Given the description of an element on the screen output the (x, y) to click on. 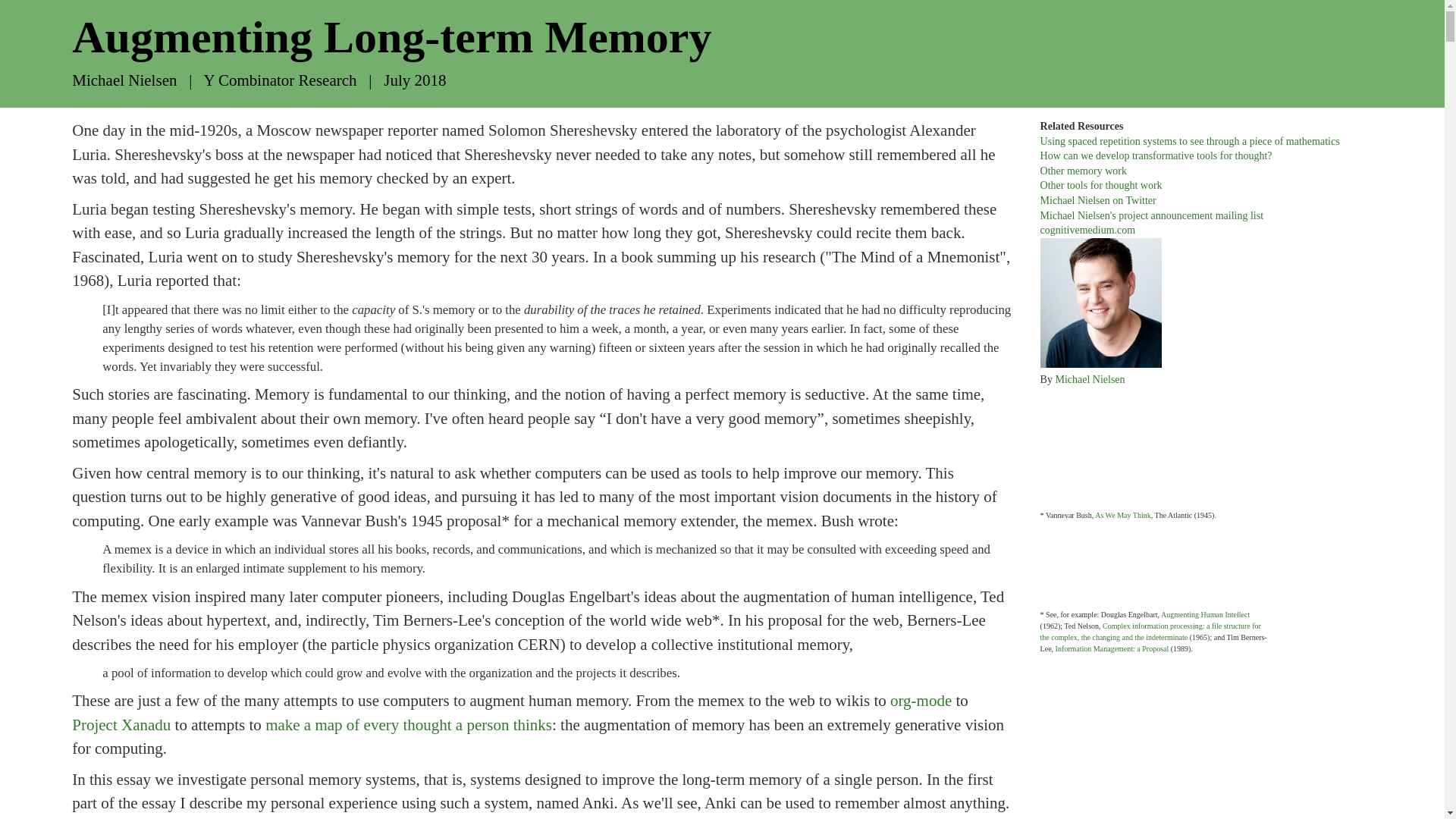
cognitivemedium.com (1088, 229)
Information Management: a Proposal (1112, 648)
Michael Nielsen (1089, 378)
Michael Nielsen's project announcement mailing list (1152, 215)
As We May Think (1122, 515)
How can we develop transformative tools for thought? (1156, 155)
Project Xanadu (120, 724)
Michael Nielsen on Twitter (1098, 200)
make a map of every thought a person thinks (407, 724)
Other memory work (1083, 170)
Michael Nielsen (123, 80)
org-mode (920, 700)
Y Combinator Research (279, 80)
